Given the description of an element on the screen output the (x, y) to click on. 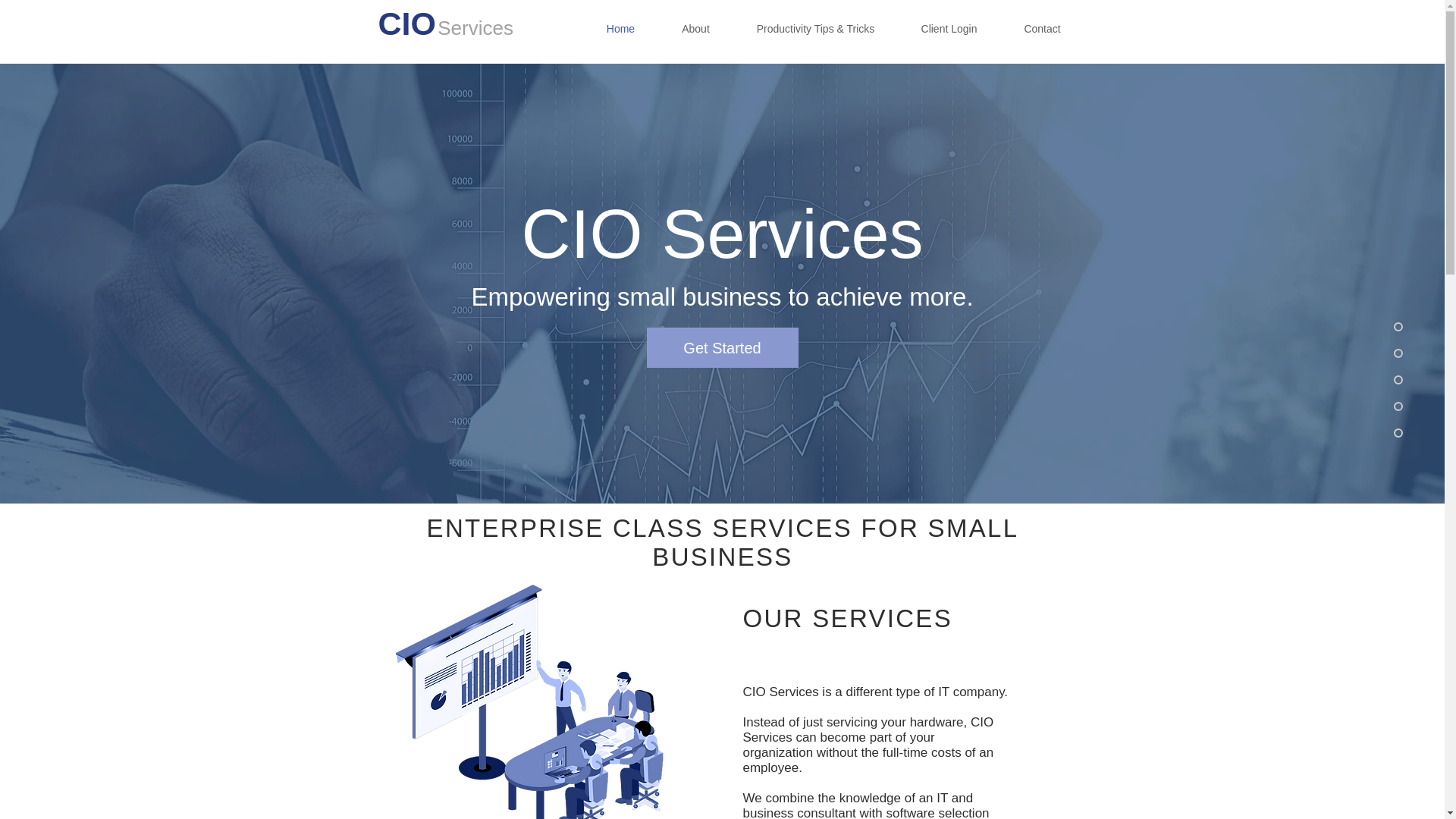
Services (475, 27)
Client Login (949, 28)
About (695, 28)
Get Started (721, 347)
Home (620, 28)
Contact (1042, 28)
